Given the description of an element on the screen output the (x, y) to click on. 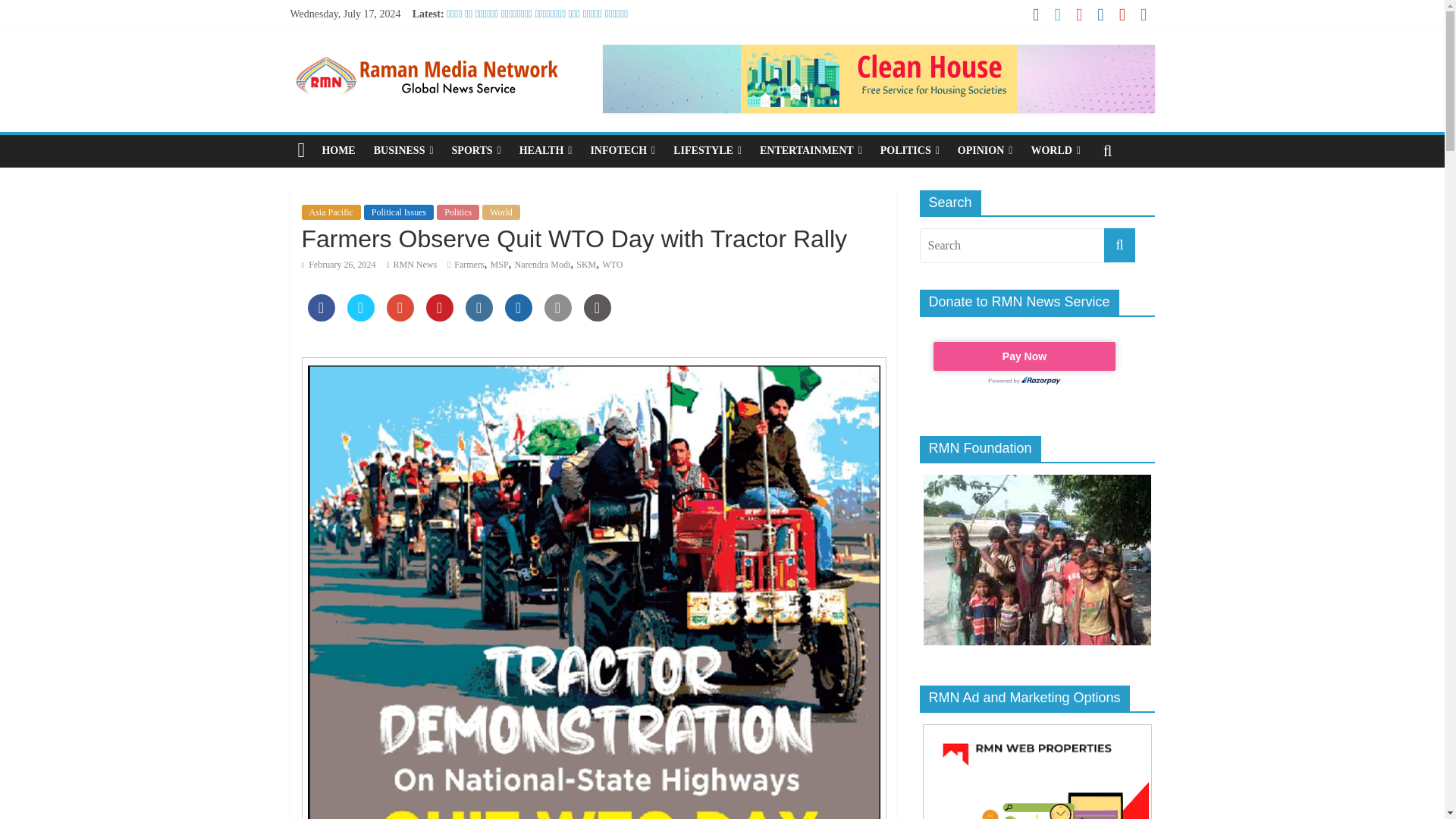
BUSINESS (403, 151)
RMN News (415, 264)
Print (597, 316)
Raman Media Network (425, 53)
4:48 PM (338, 264)
Share on Pinterest (439, 316)
LIFESTYLE (707, 151)
Share it on Email (558, 316)
Share on Digg (518, 316)
Raman Media Network (301, 151)
Share on Facebook (320, 316)
Share on Google Plus (400, 316)
